Given the description of an element on the screen output the (x, y) to click on. 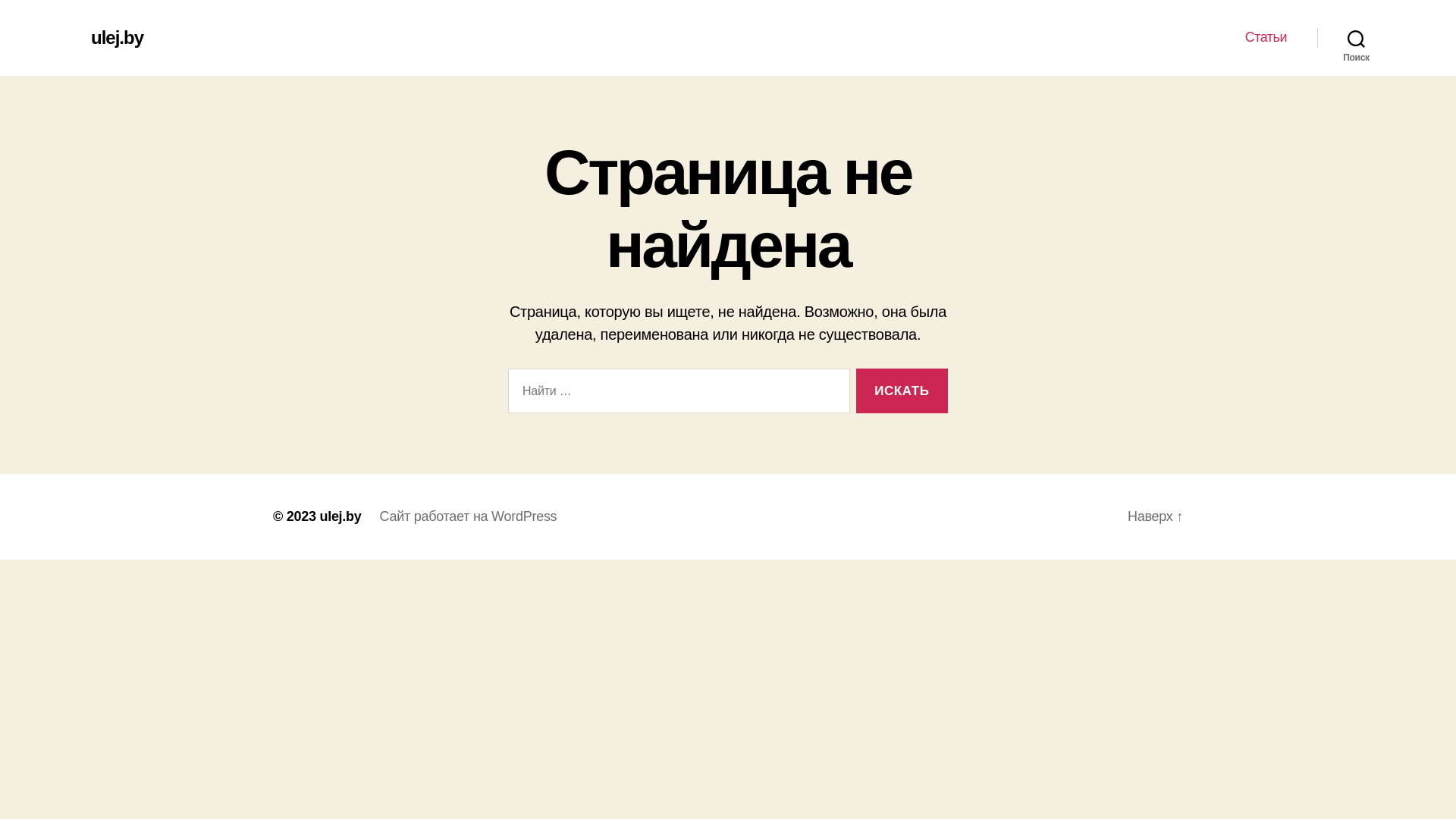
ulej.by Element type: text (117, 37)
ulej.by Element type: text (339, 516)
